Given the description of an element on the screen output the (x, y) to click on. 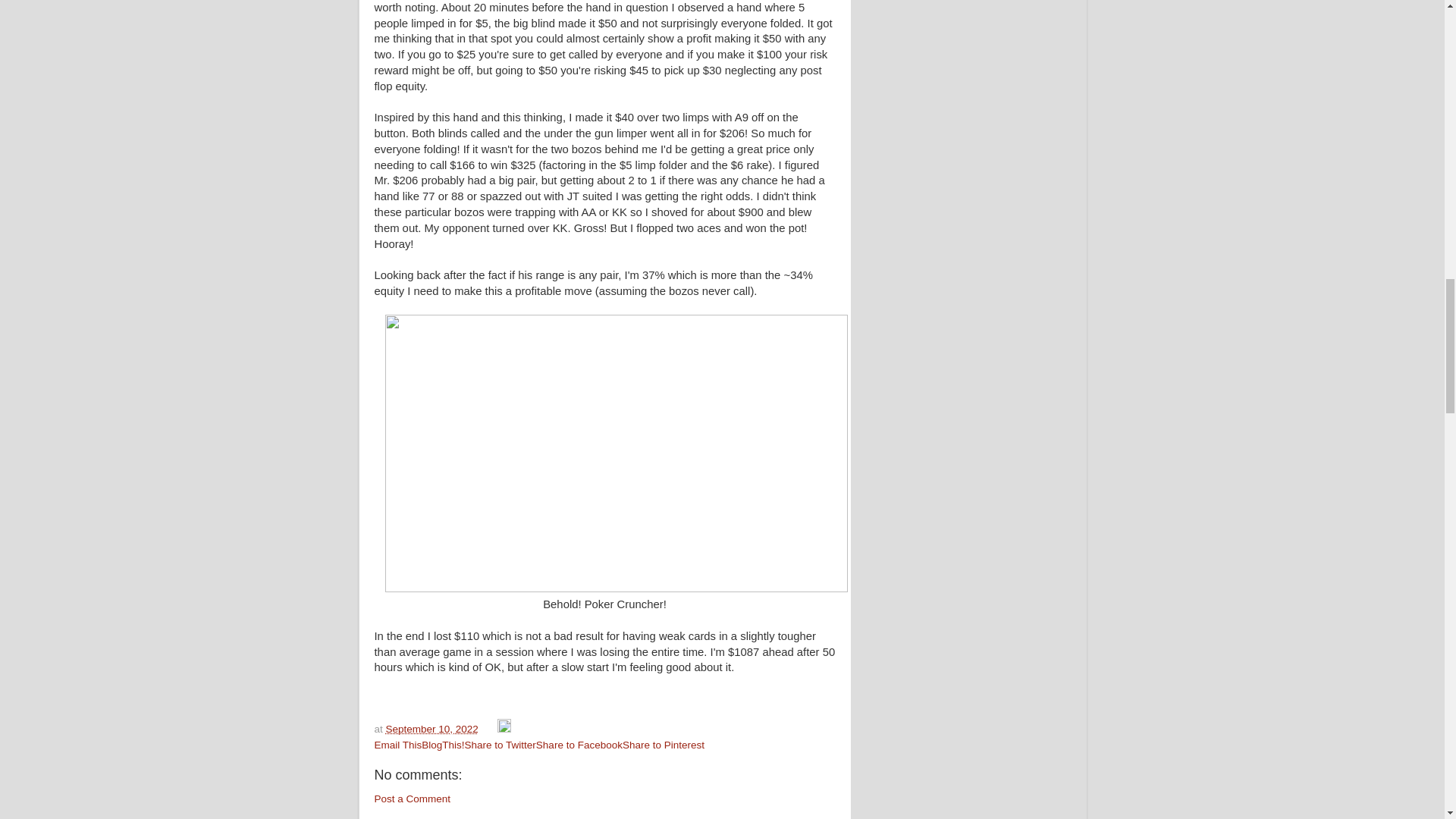
Share to Facebook (579, 745)
Email Post (489, 728)
Share to Twitter (499, 745)
Edit Post (504, 728)
Email This (398, 745)
permanent link (432, 728)
Post a Comment (412, 798)
Email This (398, 745)
Share to Pinterest (663, 745)
Share to Facebook (579, 745)
September 10, 2022 (432, 728)
Share to Pinterest (663, 745)
Share to Twitter (499, 745)
BlogThis! (443, 745)
BlogThis! (443, 745)
